Given the description of an element on the screen output the (x, y) to click on. 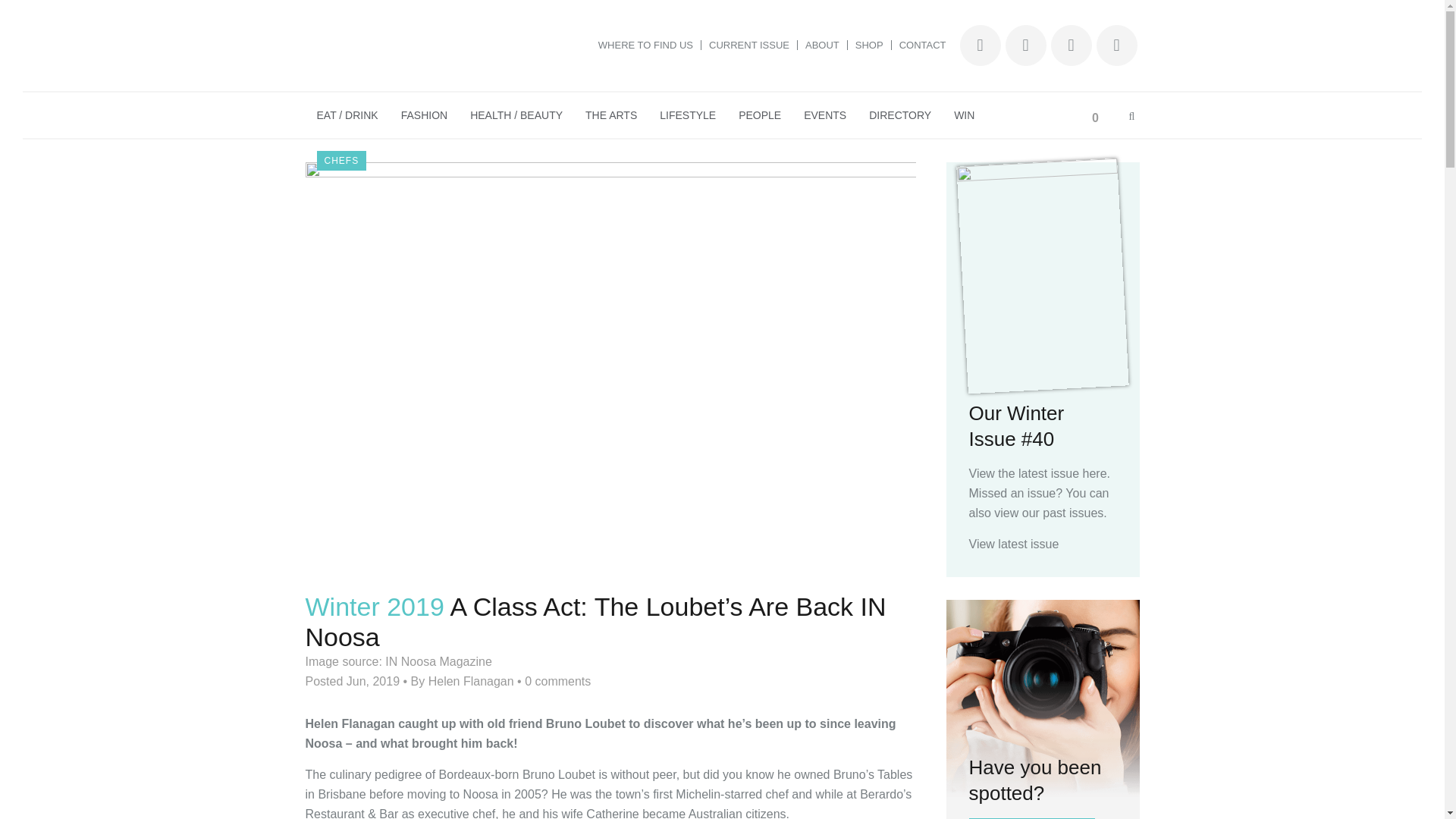
WHERE TO FIND US (646, 44)
FASHION (424, 115)
SHOP (869, 44)
CONTACT (918, 44)
CURRENT ISSUE (749, 44)
ABOUT (822, 44)
